Given the description of an element on the screen output the (x, y) to click on. 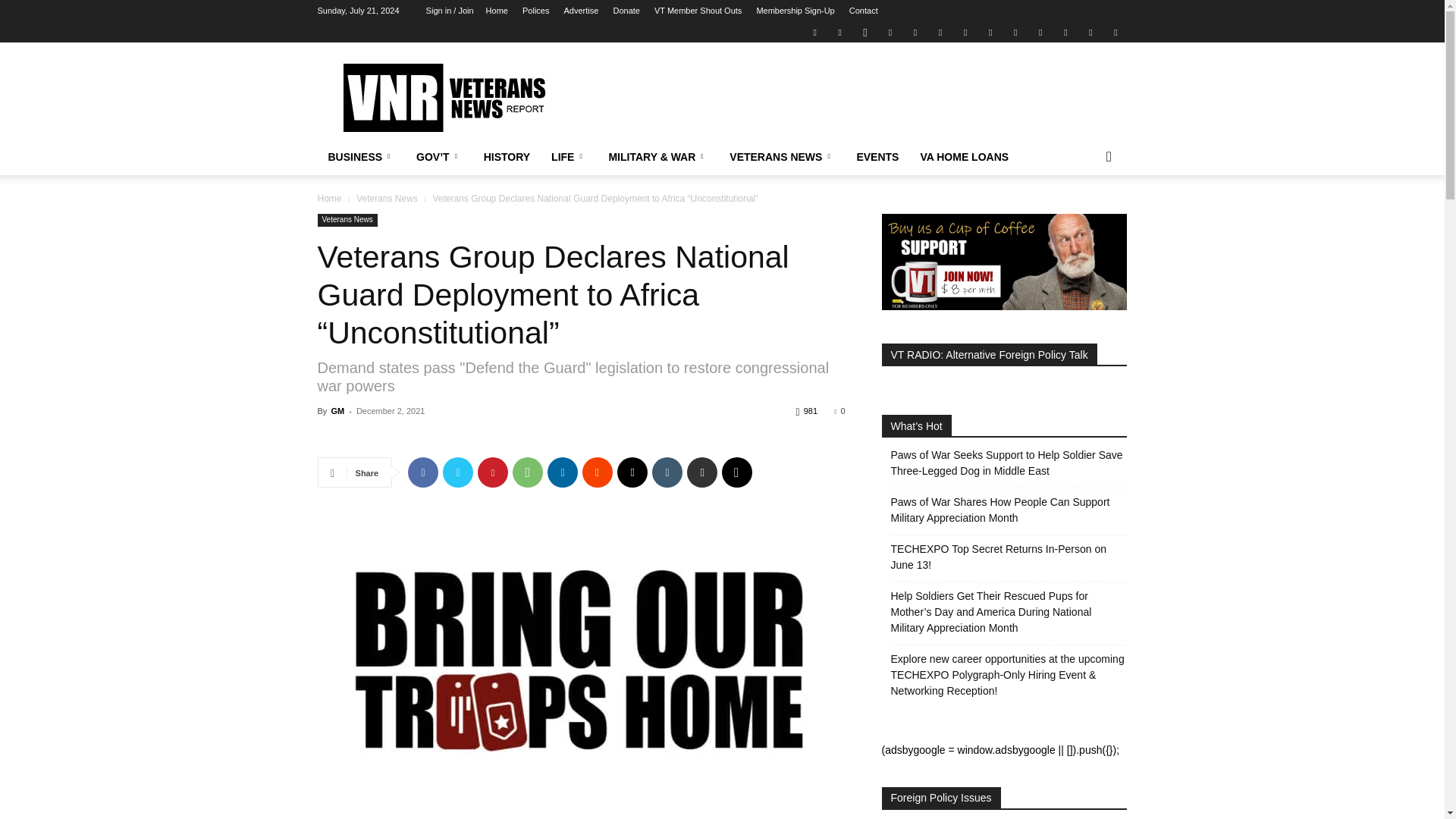
Contact (862, 10)
Blogger (815, 31)
Advertise (581, 10)
VT Member Shout Outs (697, 10)
Instagram (864, 31)
Polices (535, 10)
Mail (890, 31)
Membership Sign-Up (794, 10)
Donate (625, 10)
Home (497, 10)
Facebook (839, 31)
